Given the description of an element on the screen output the (x, y) to click on. 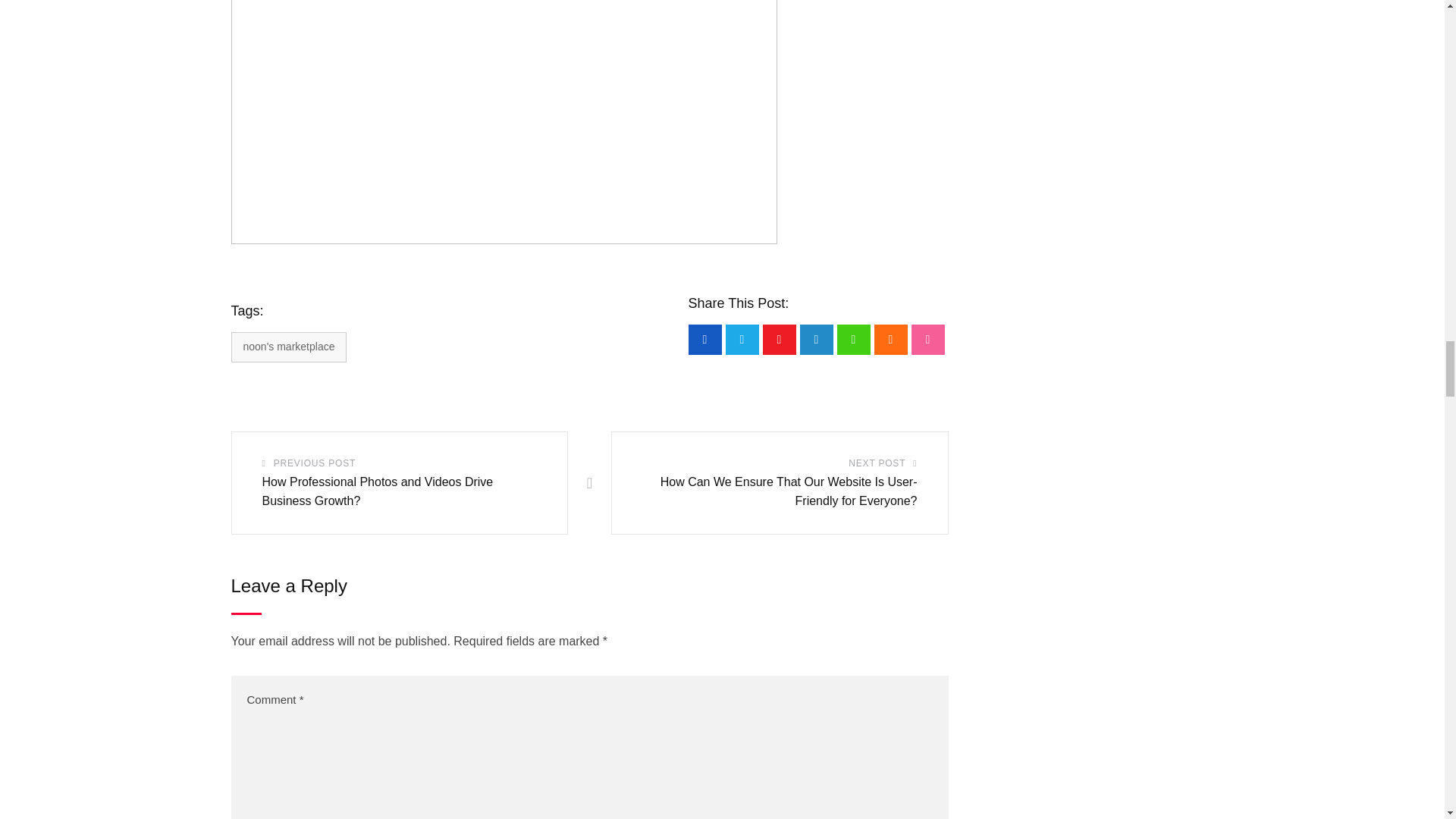
Cloud (890, 339)
Whatsapp (853, 339)
Youtube (779, 339)
noon's marketplace (288, 347)
LinkedIn (815, 339)
PREVIOUS POST (314, 463)
How Professional Photos and Videos Drive Business Growth? (377, 491)
NEXT POST (876, 463)
StumbleUpon (927, 339)
